Given the description of an element on the screen output the (x, y) to click on. 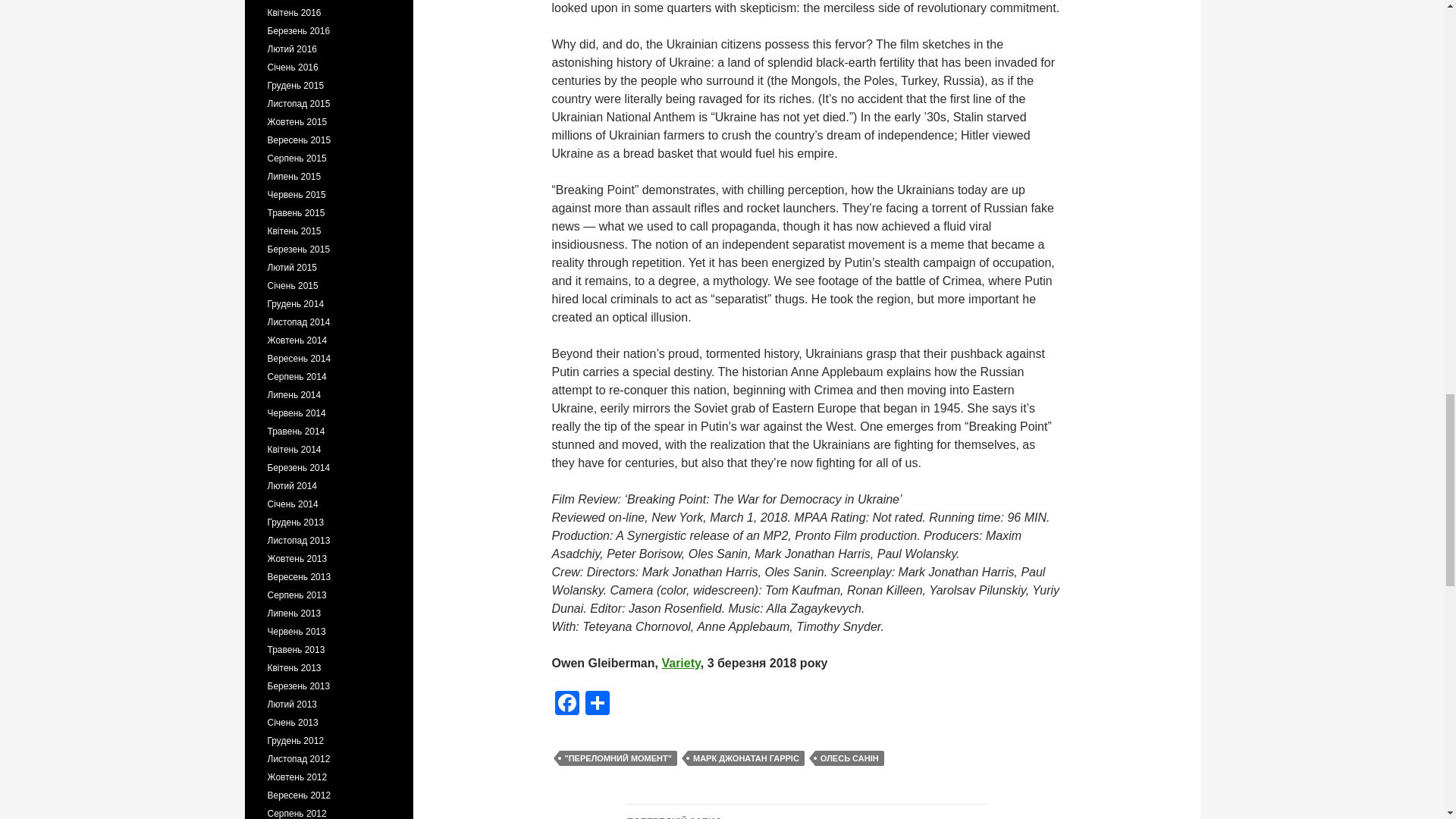
Facebook (566, 705)
Variety (680, 662)
Facebook (566, 705)
